Given the description of an element on the screen output the (x, y) to click on. 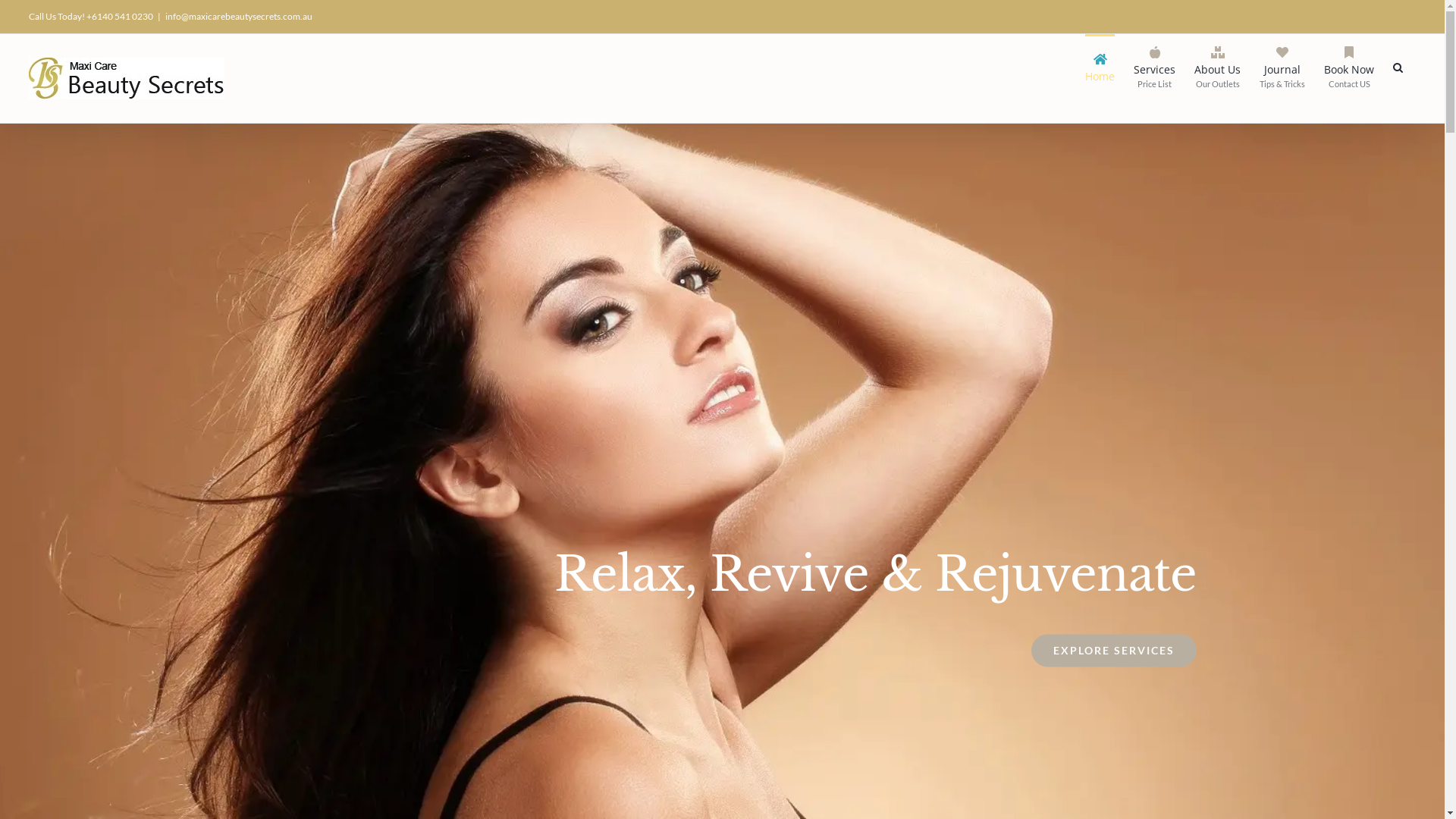
Search Element type: hover (1397, 65)
About Us
Our Outlets Element type: text (1217, 65)
EXPLORE SERVICES Element type: text (1113, 650)
Journal
Tips & Tricks Element type: text (1282, 65)
Home Element type: text (1099, 65)
Book Now
Contact US Element type: text (1349, 65)
info@maxicarebeautysecrets.com.au Element type: text (238, 15)
Services
Price List Element type: text (1154, 65)
